Given the description of an element on the screen output the (x, y) to click on. 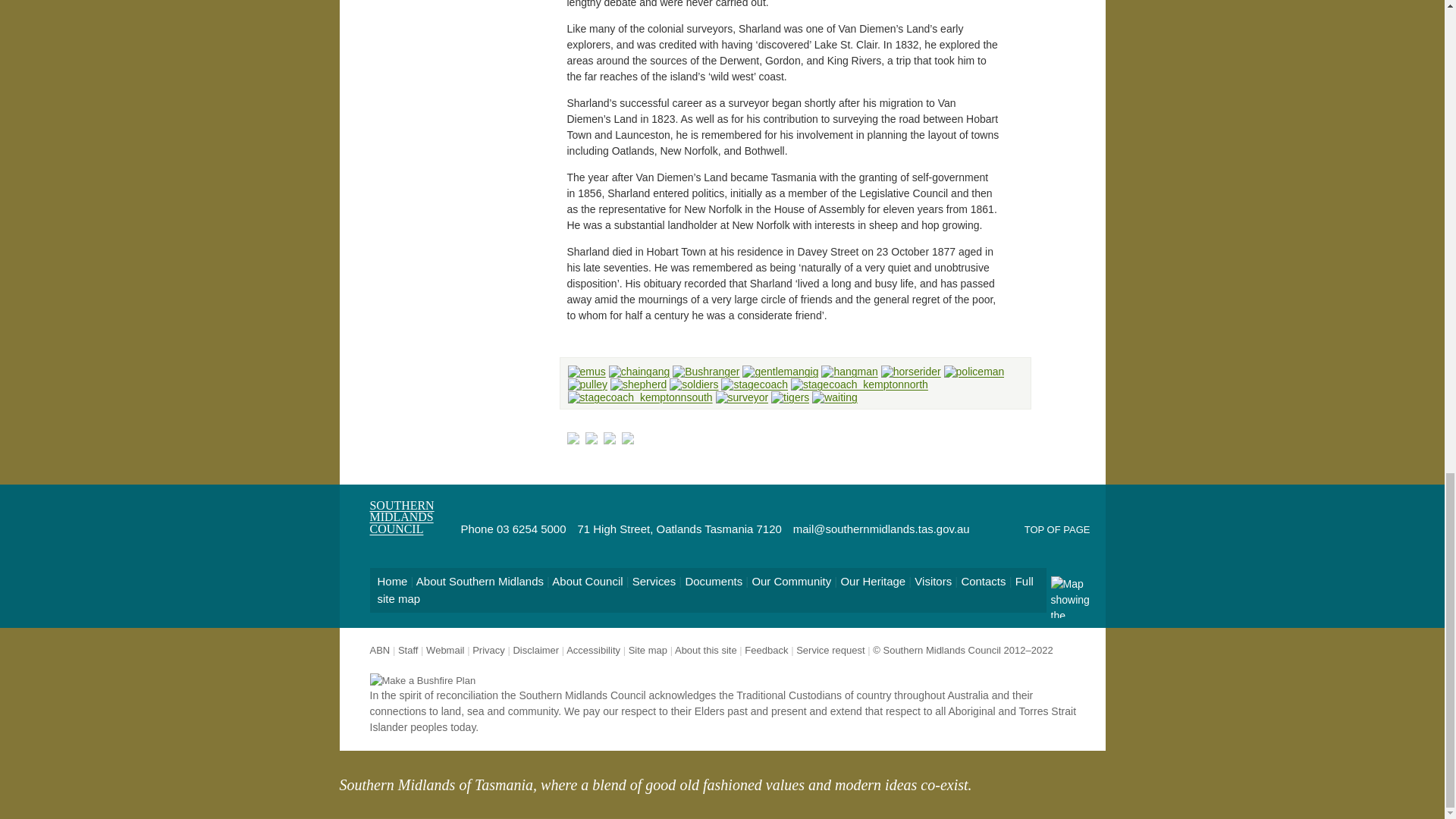
Print this page (610, 439)
Visit the Southern Midlands Council home page (573, 439)
Contact details for the Southern Midlands Council (592, 439)
Send us your comments (628, 439)
